Given the description of an element on the screen output the (x, y) to click on. 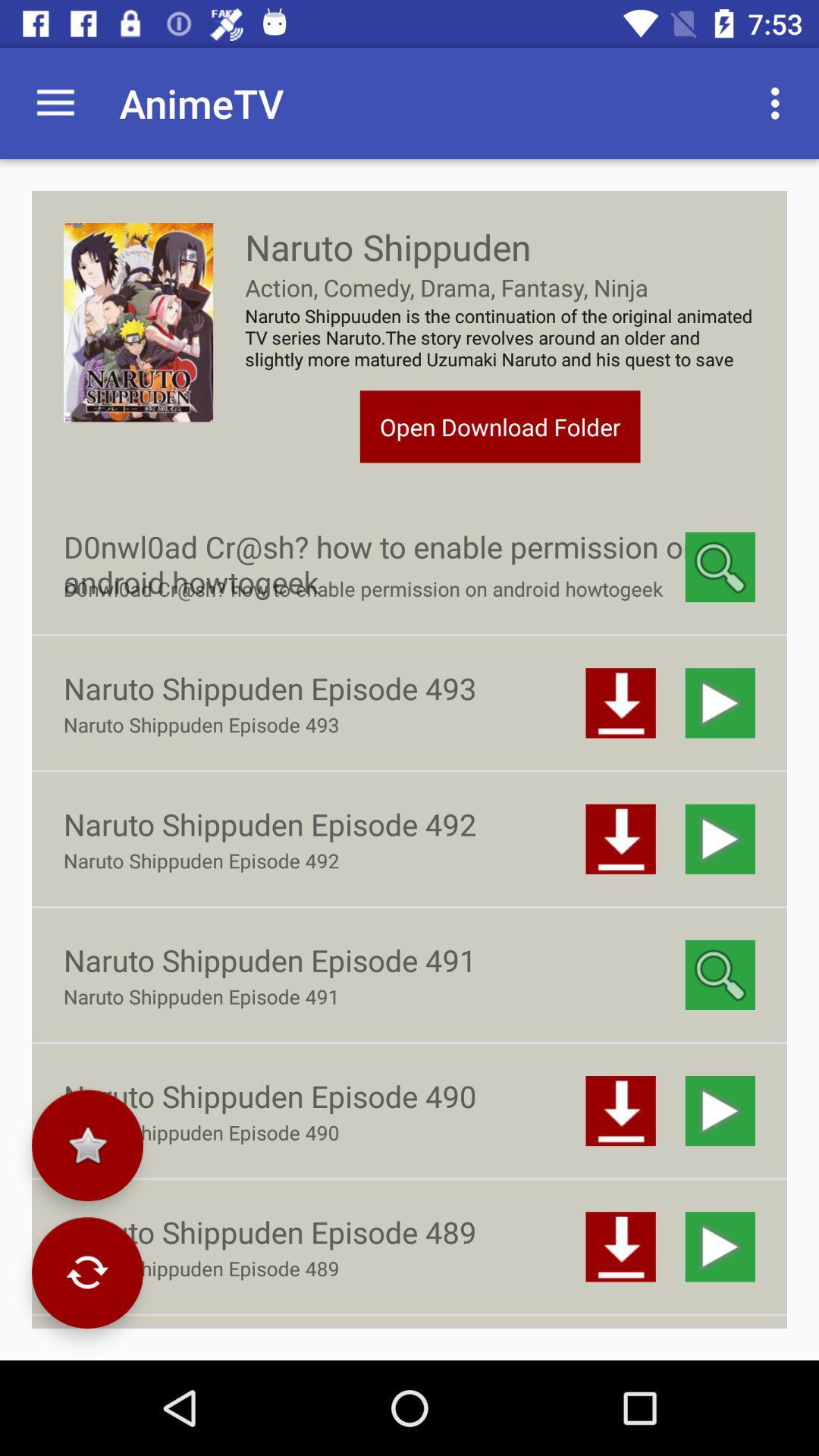
click item above the d0nwl0ad cr sh (500, 426)
